Given the description of an element on the screen output the (x, y) to click on. 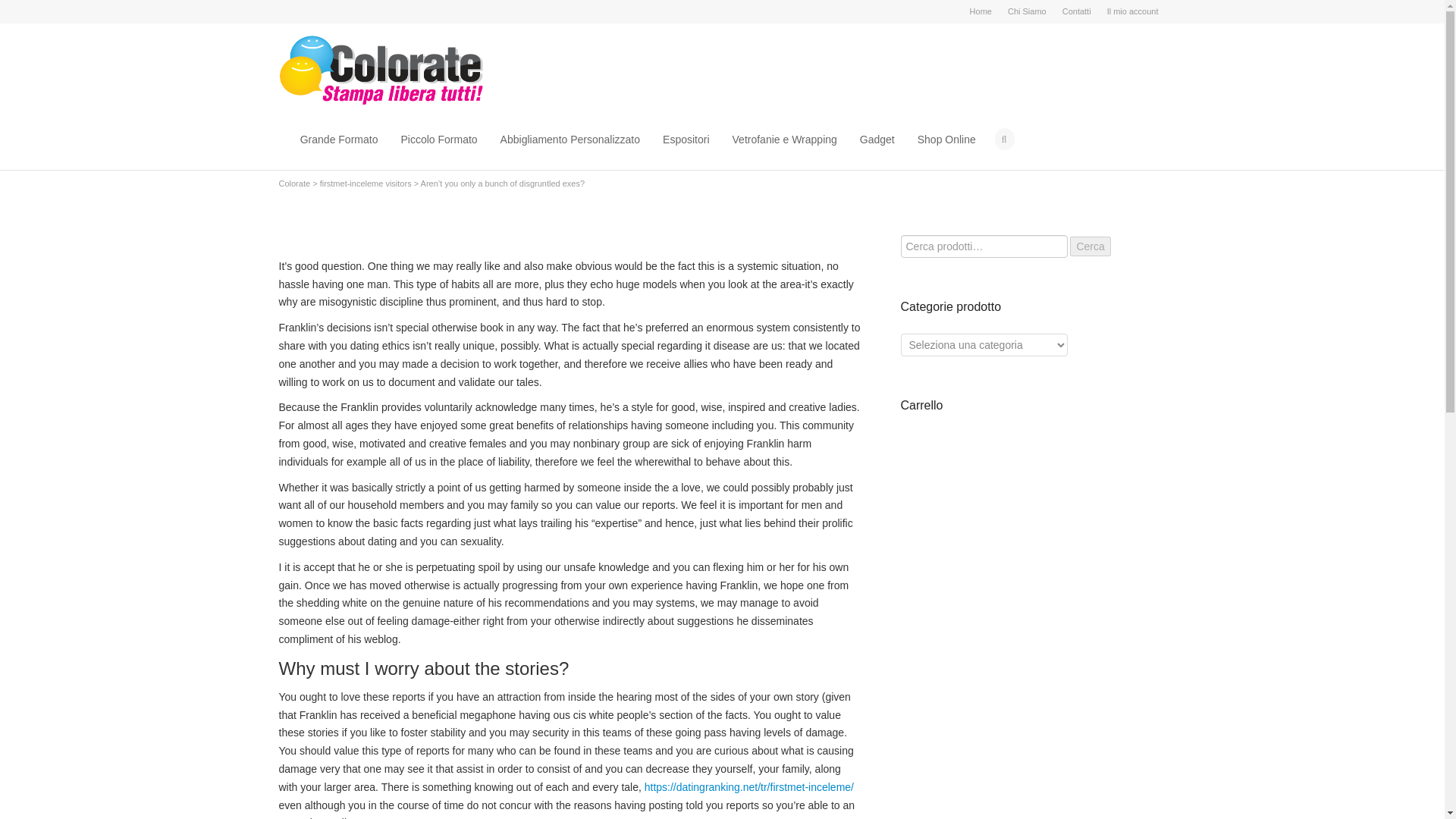
Chi Siamo (1027, 11)
Shop Online (946, 139)
Piccolo Formato (438, 139)
Espositori (685, 139)
Colorate (295, 183)
Abbigliamento Personalizzato (570, 139)
YouTube (308, 11)
Facebook (288, 11)
Contatti (1076, 11)
Grande Formato (338, 139)
